Given the description of an element on the screen output the (x, y) to click on. 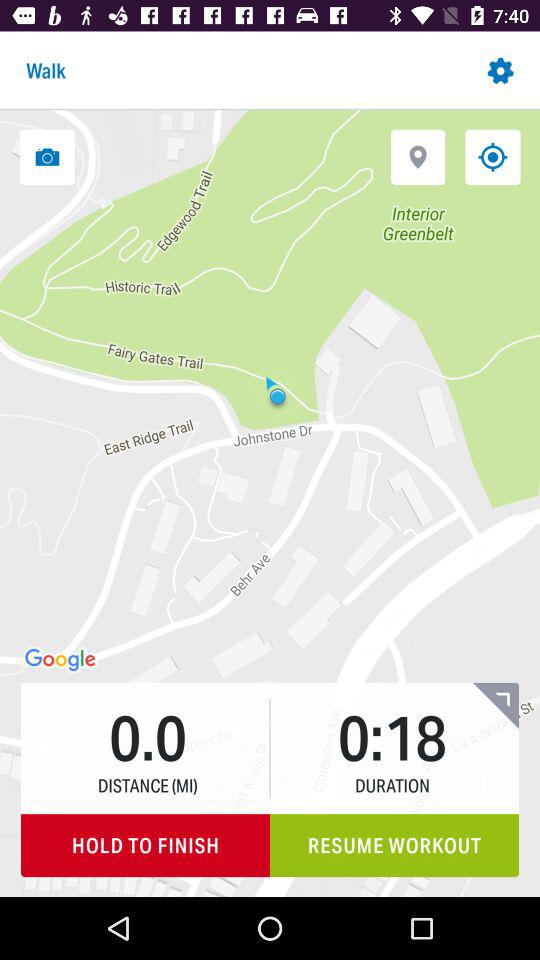
click the icon at the top left corner (47, 156)
